Given the description of an element on the screen output the (x, y) to click on. 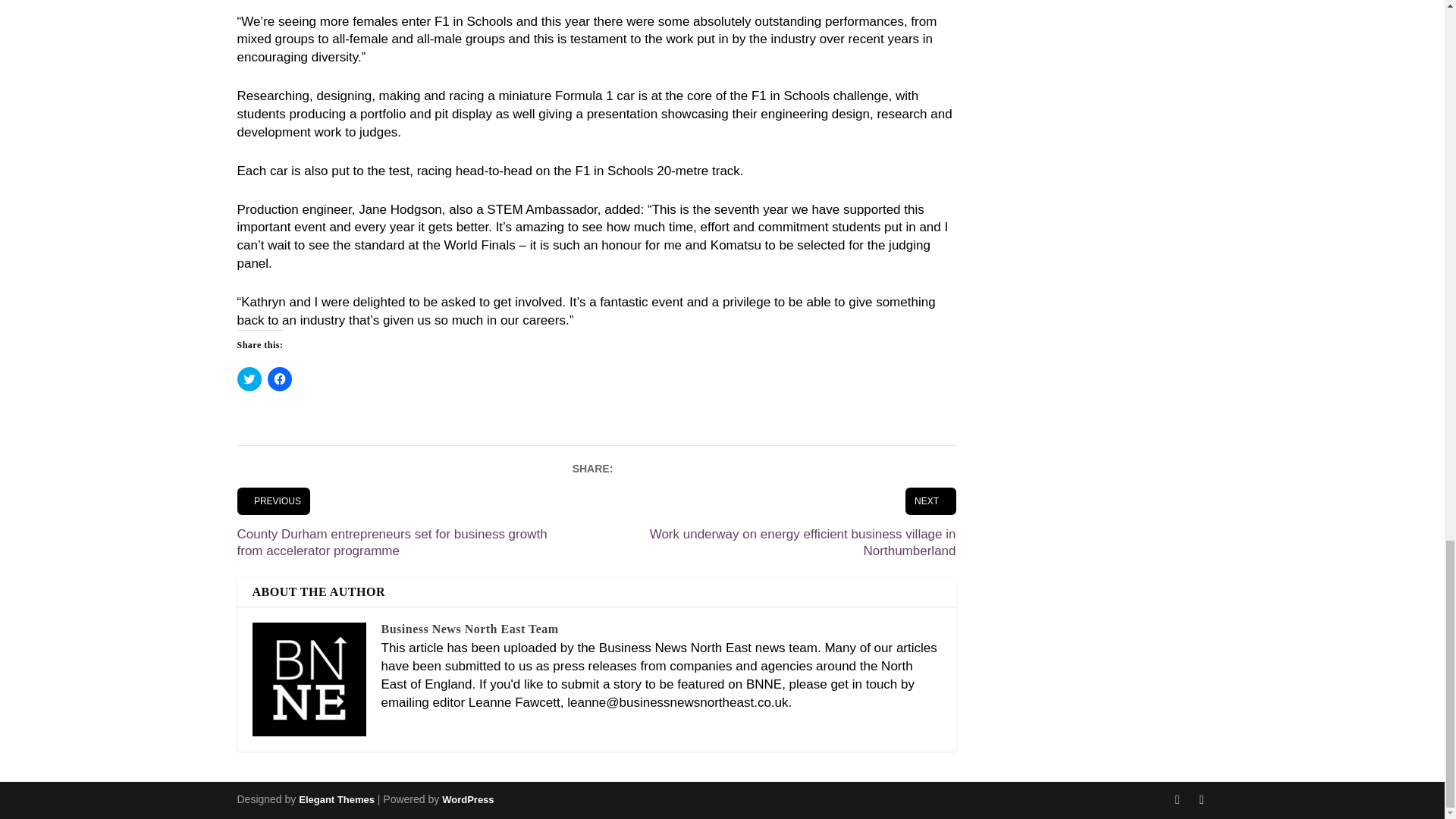
WordPress (467, 799)
Click to share on Twitter (247, 378)
Business News North East Team (468, 628)
Elegant Themes (336, 799)
Click to share on Facebook (278, 378)
Premium WordPress Themes (336, 799)
View all posts by Business News North East Team (468, 628)
